Given the description of an element on the screen output the (x, y) to click on. 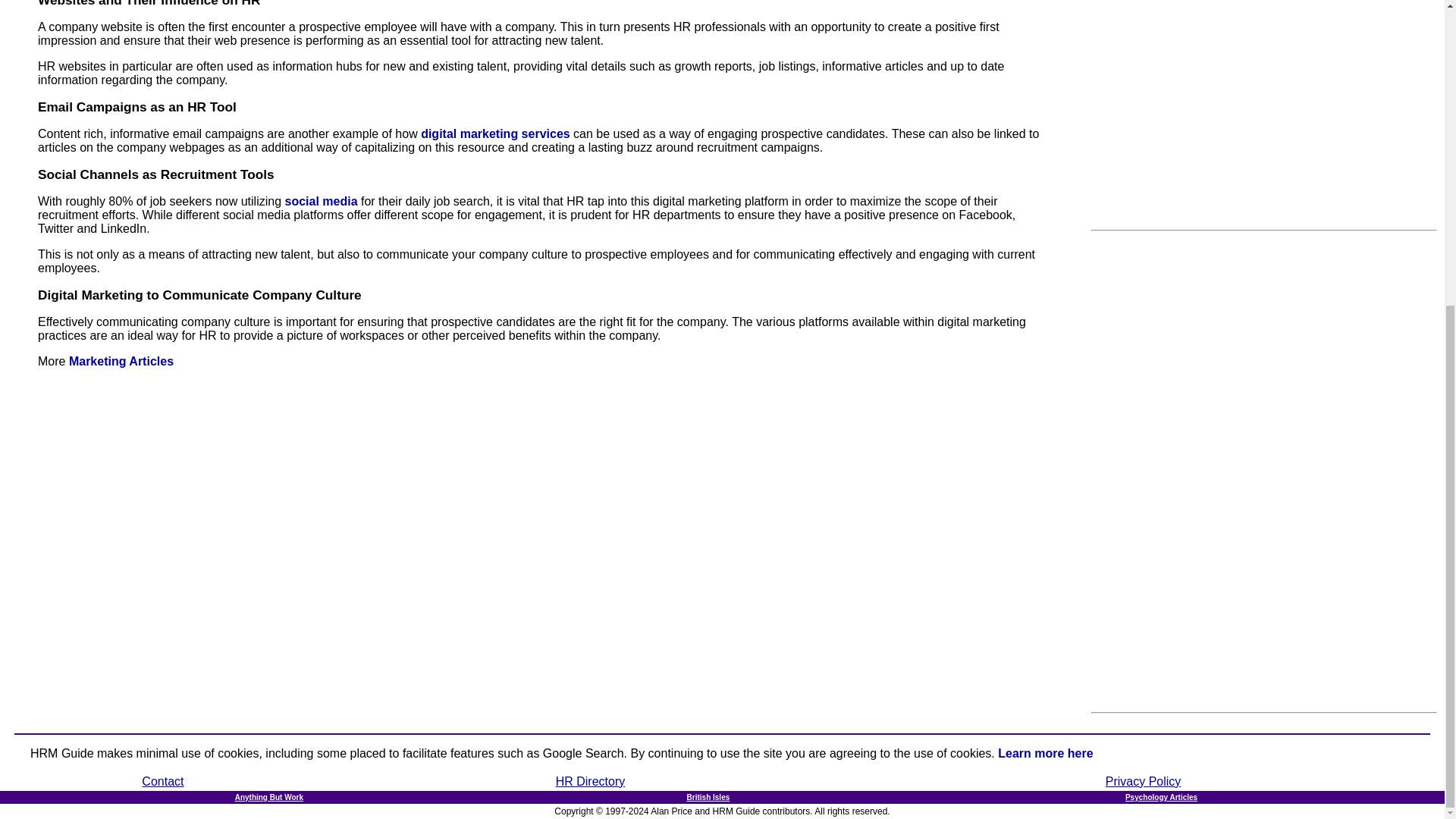
social media (321, 201)
HR Directory (591, 780)
Psychology Articles (1160, 797)
Contact (162, 780)
Marketing Articles (120, 360)
Learn more here (1045, 753)
British Isles (708, 797)
Anything But Work (268, 797)
digital marketing services (495, 133)
Privacy Policy (1142, 780)
